Given the description of an element on the screen output the (x, y) to click on. 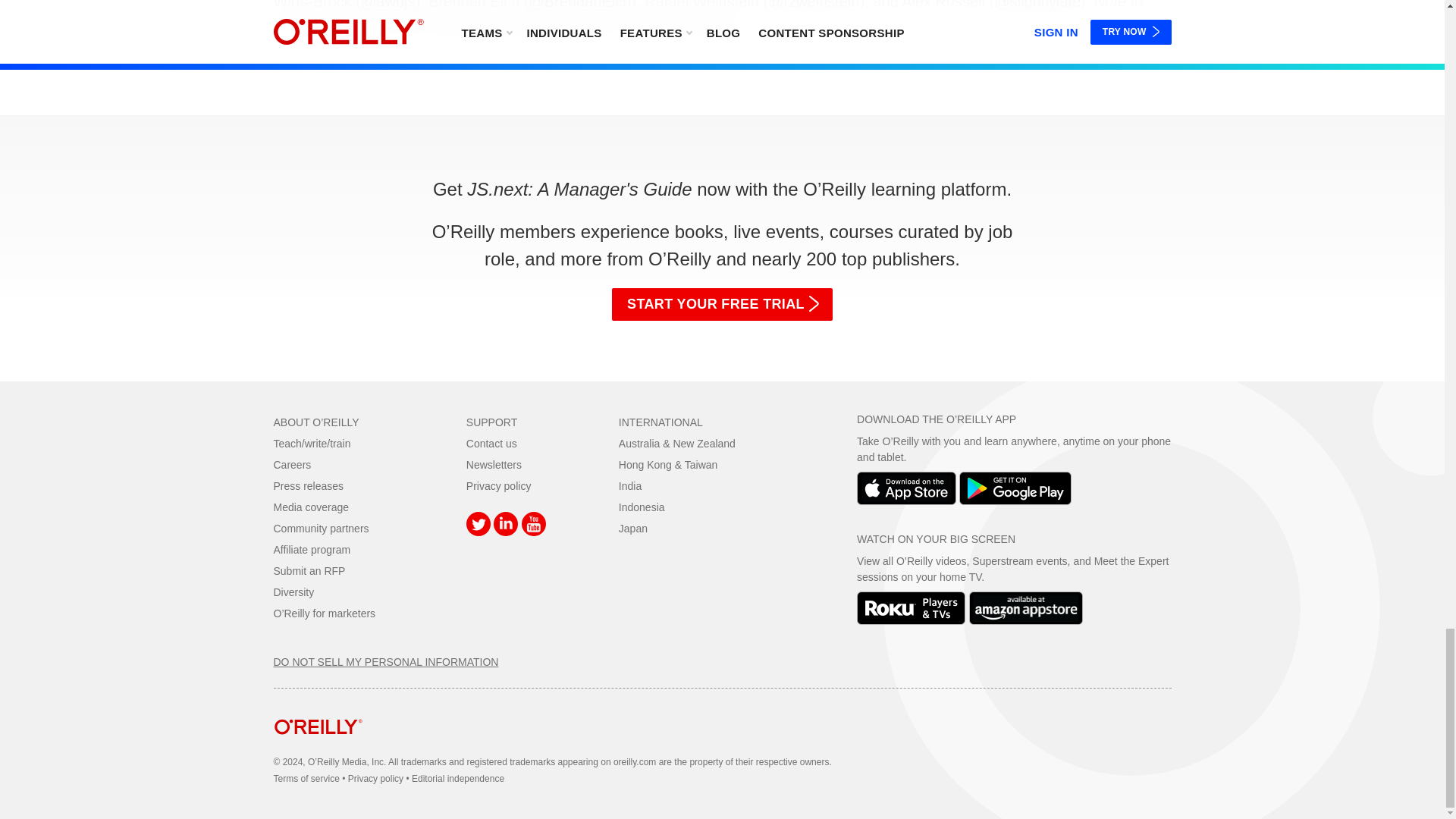
home page (317, 745)
Acknowledgements (721, 17)
